Given the description of an element on the screen output the (x, y) to click on. 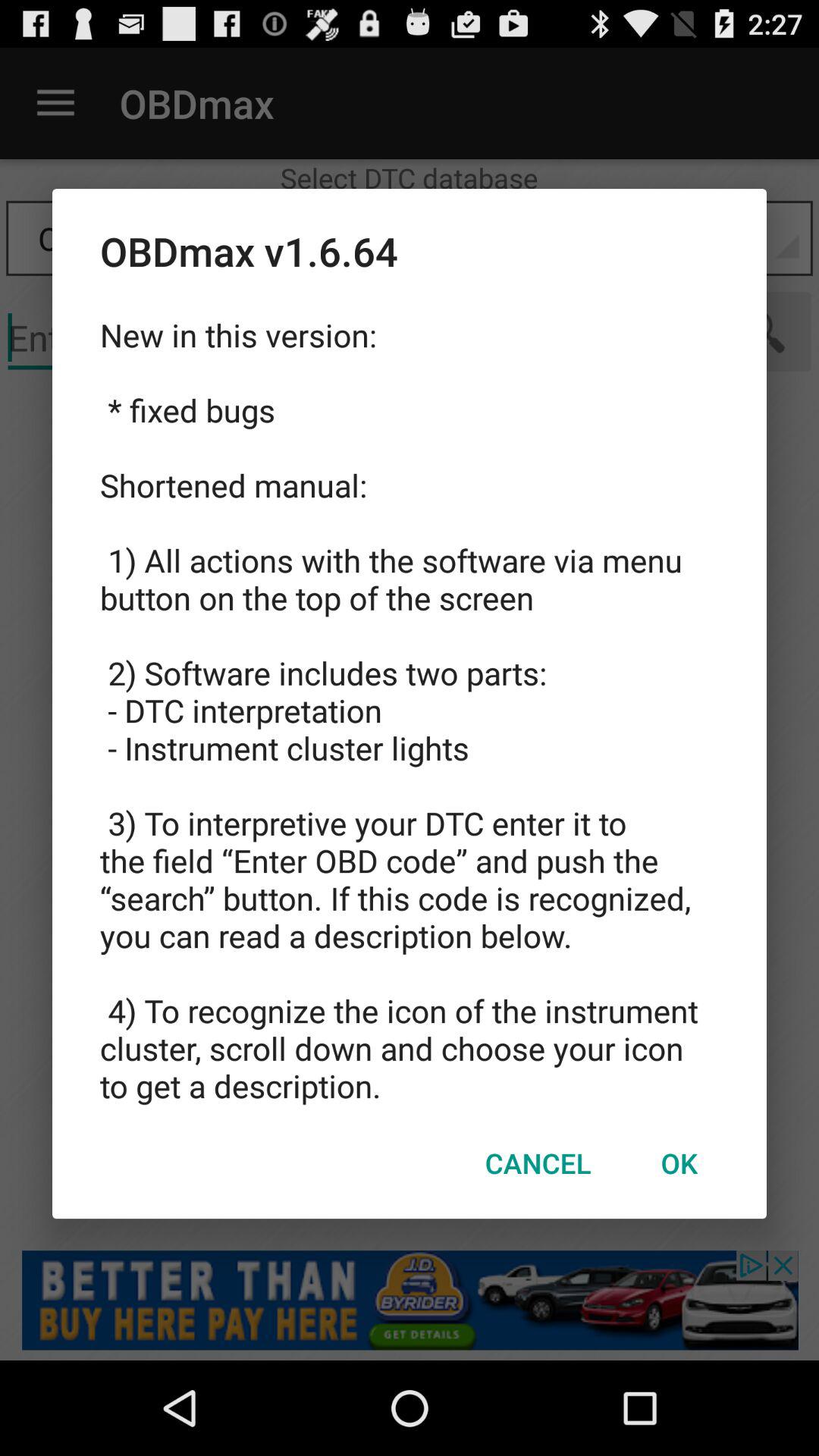
turn off icon at the bottom right corner (678, 1162)
